Given the description of an element on the screen output the (x, y) to click on. 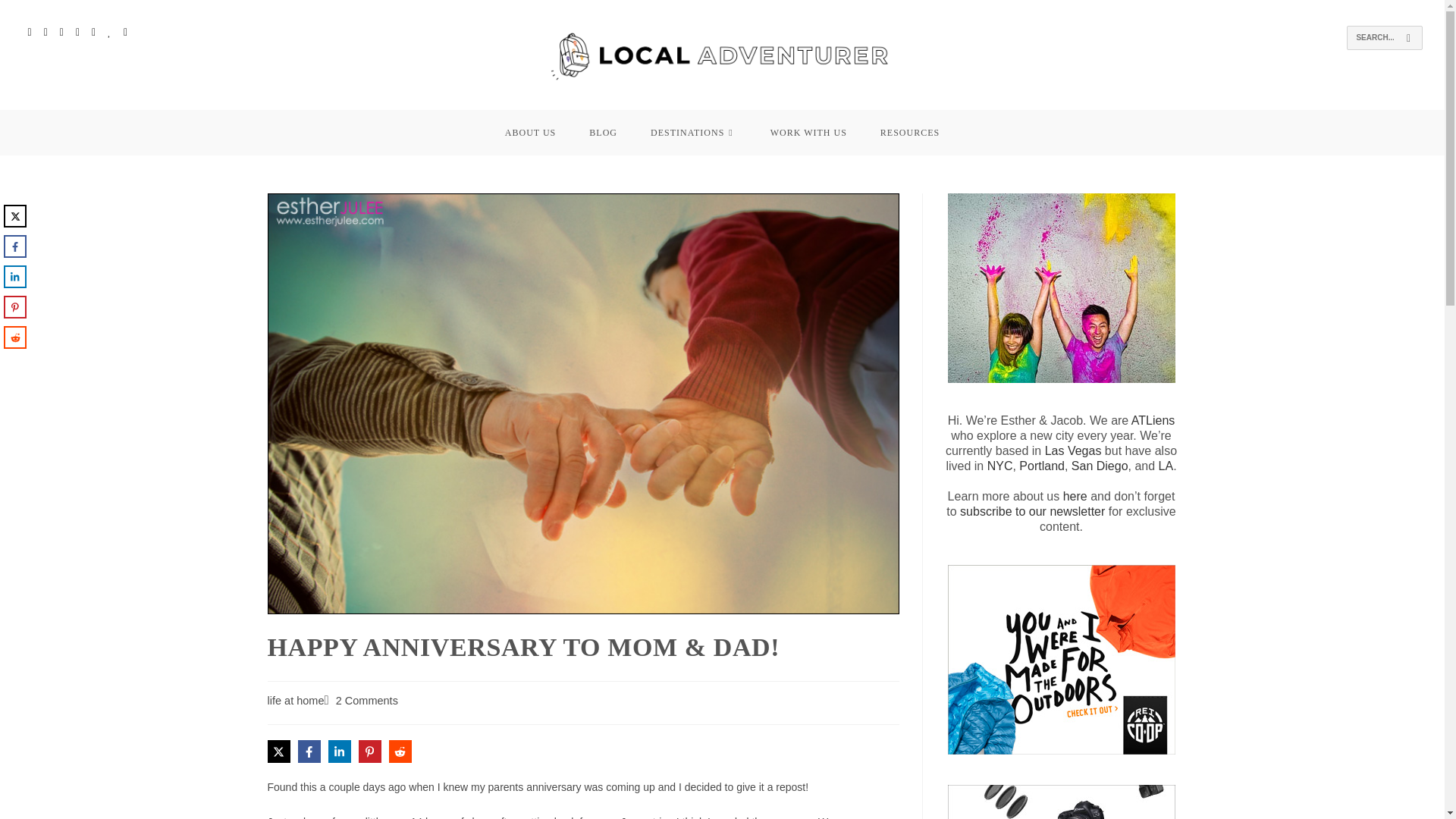
BLOG (602, 132)
WORK WITH US (808, 132)
RESOURCES (909, 132)
ABOUT US (529, 132)
DESTINATIONS (693, 132)
